Given the description of an element on the screen output the (x, y) to click on. 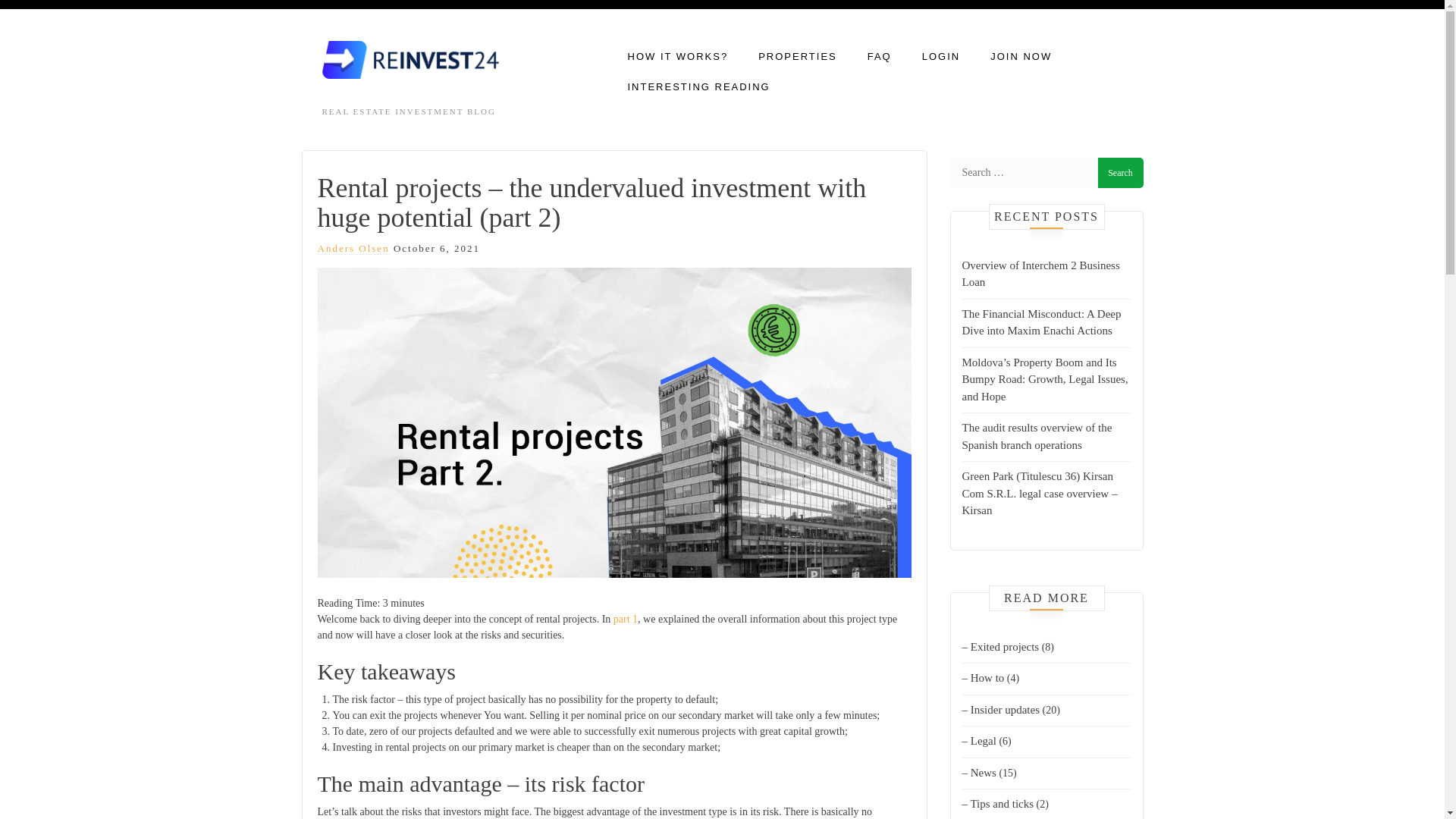
Anders Olsen (352, 248)
Search (1119, 173)
HOW IT WORKS? (678, 56)
INTERESTING READING (698, 87)
Search (1119, 173)
part 1 (624, 618)
LOGIN (940, 56)
Overview of Interchem 2 Business Loan (1039, 274)
Search (1119, 173)
The audit results overview of the Spanish branch operations (1036, 436)
JOIN NOW (1020, 56)
PROPERTIES (797, 56)
